Given the description of an element on the screen output the (x, y) to click on. 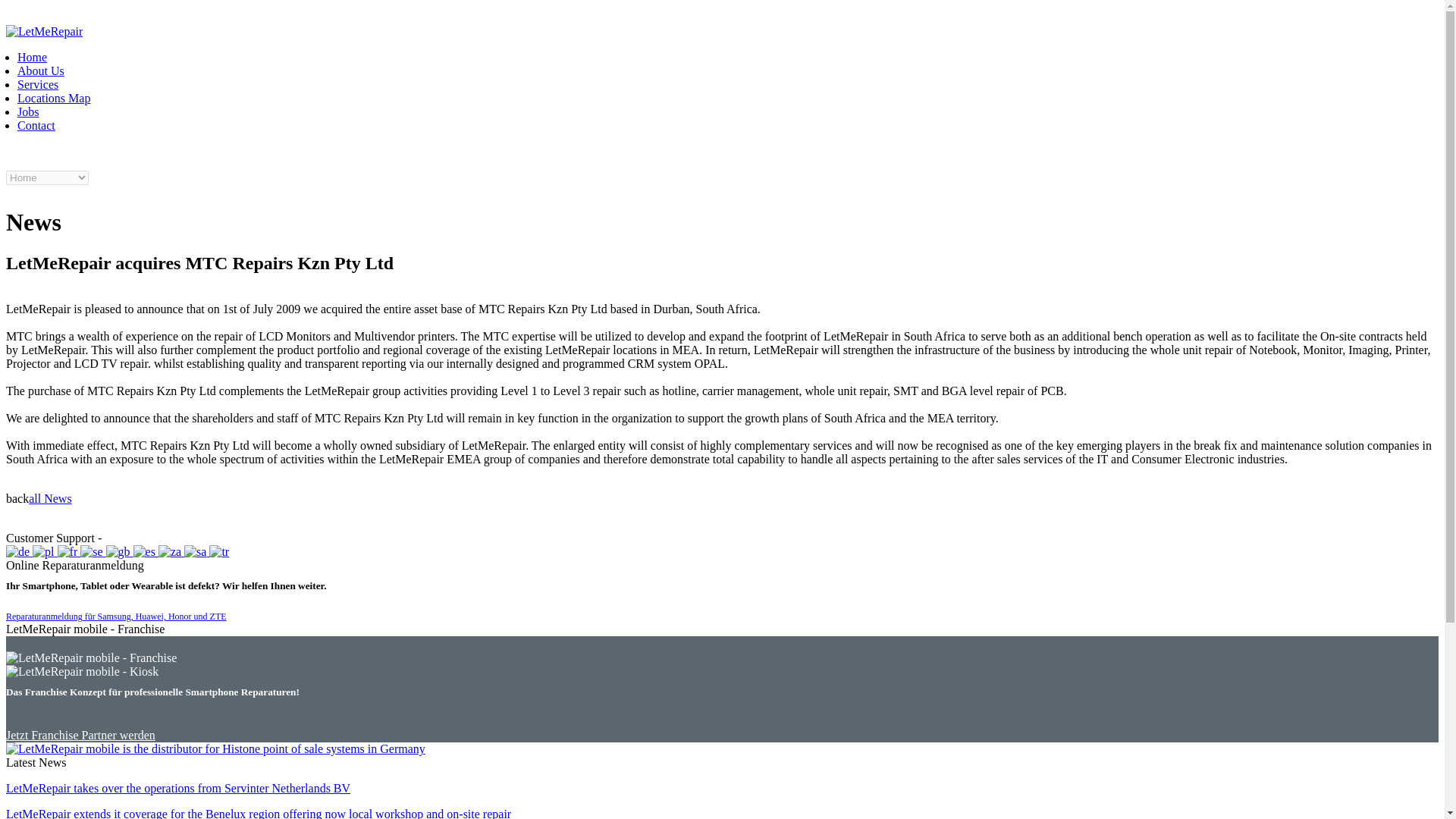
all News (50, 498)
Locations Map (53, 97)
Jetzt Franchise Partner werden (80, 735)
Contact (36, 124)
Jobs (28, 111)
back (17, 498)
online repair status (150, 537)
Services (37, 83)
Home (31, 56)
About Us (40, 70)
